Given the description of an element on the screen output the (x, y) to click on. 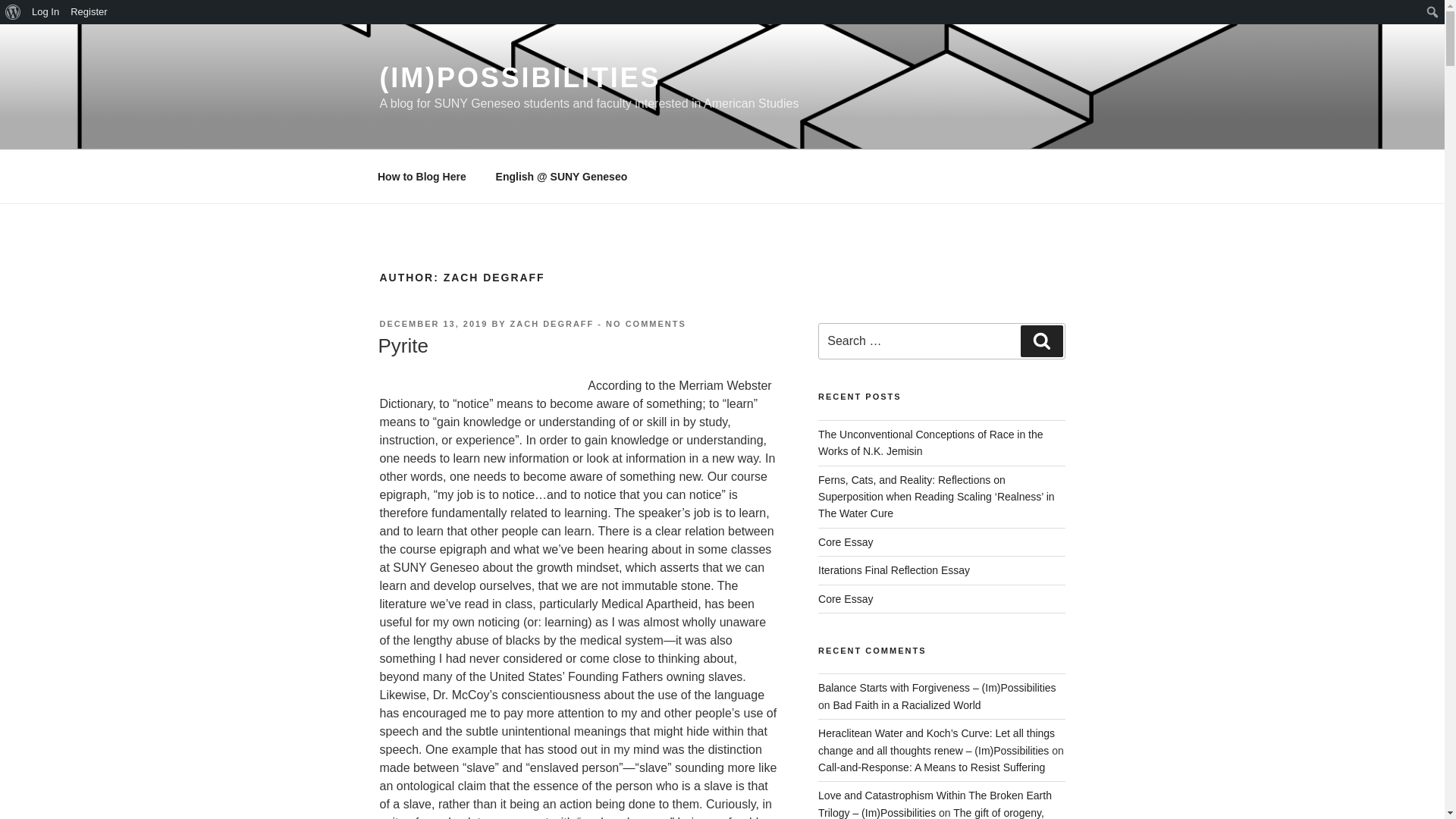
ZACH DEGRAFF (552, 323)
DECEMBER 13, 2019 (432, 323)
Search (15, 12)
About WordPress (13, 12)
Log In (45, 12)
Pyrite (402, 345)
Register (89, 12)
How to Blog Here (421, 176)
